Given the description of an element on the screen output the (x, y) to click on. 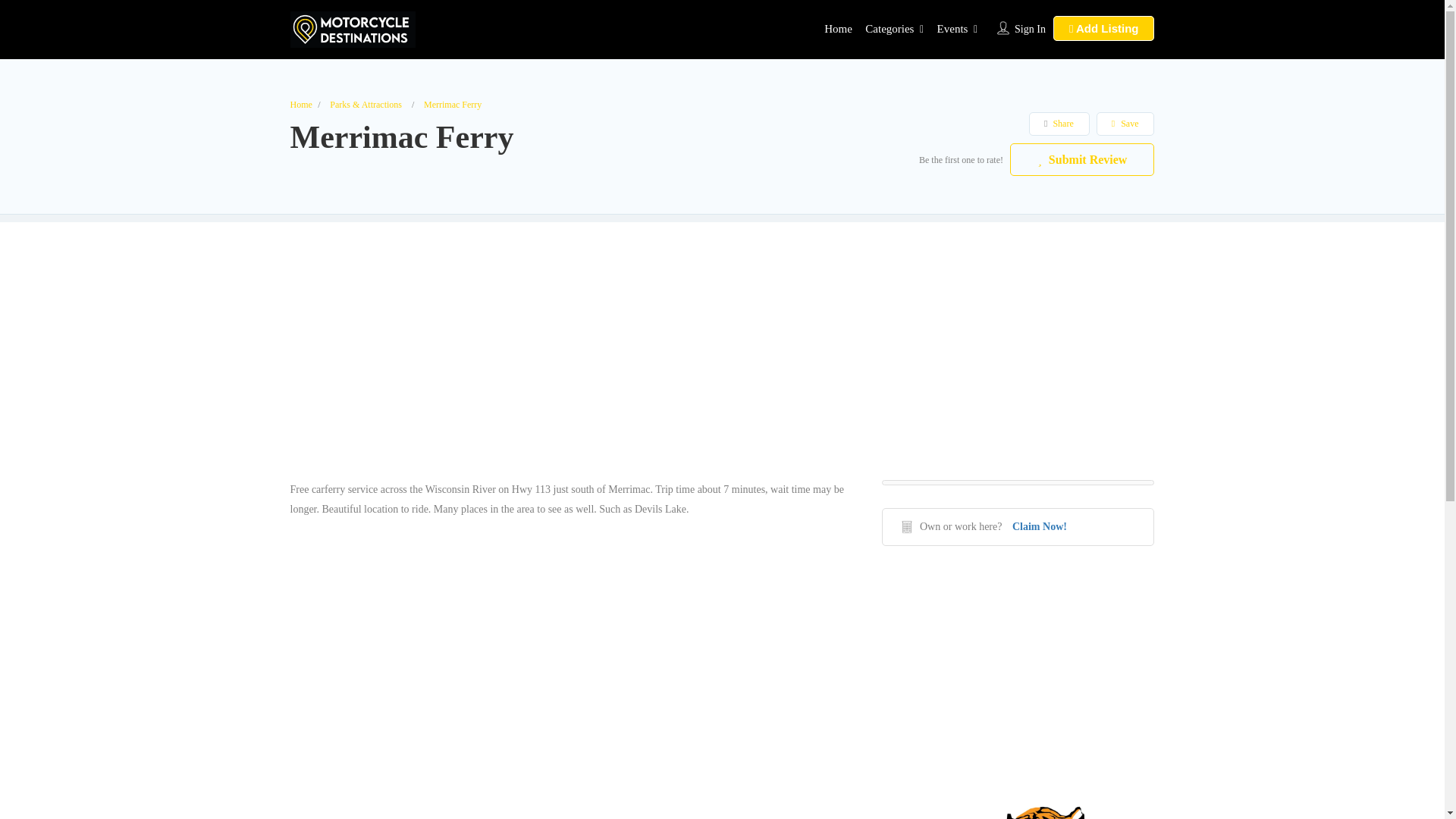
Sign In (1029, 29)
Advertisement (1017, 674)
